Given the description of an element on the screen output the (x, y) to click on. 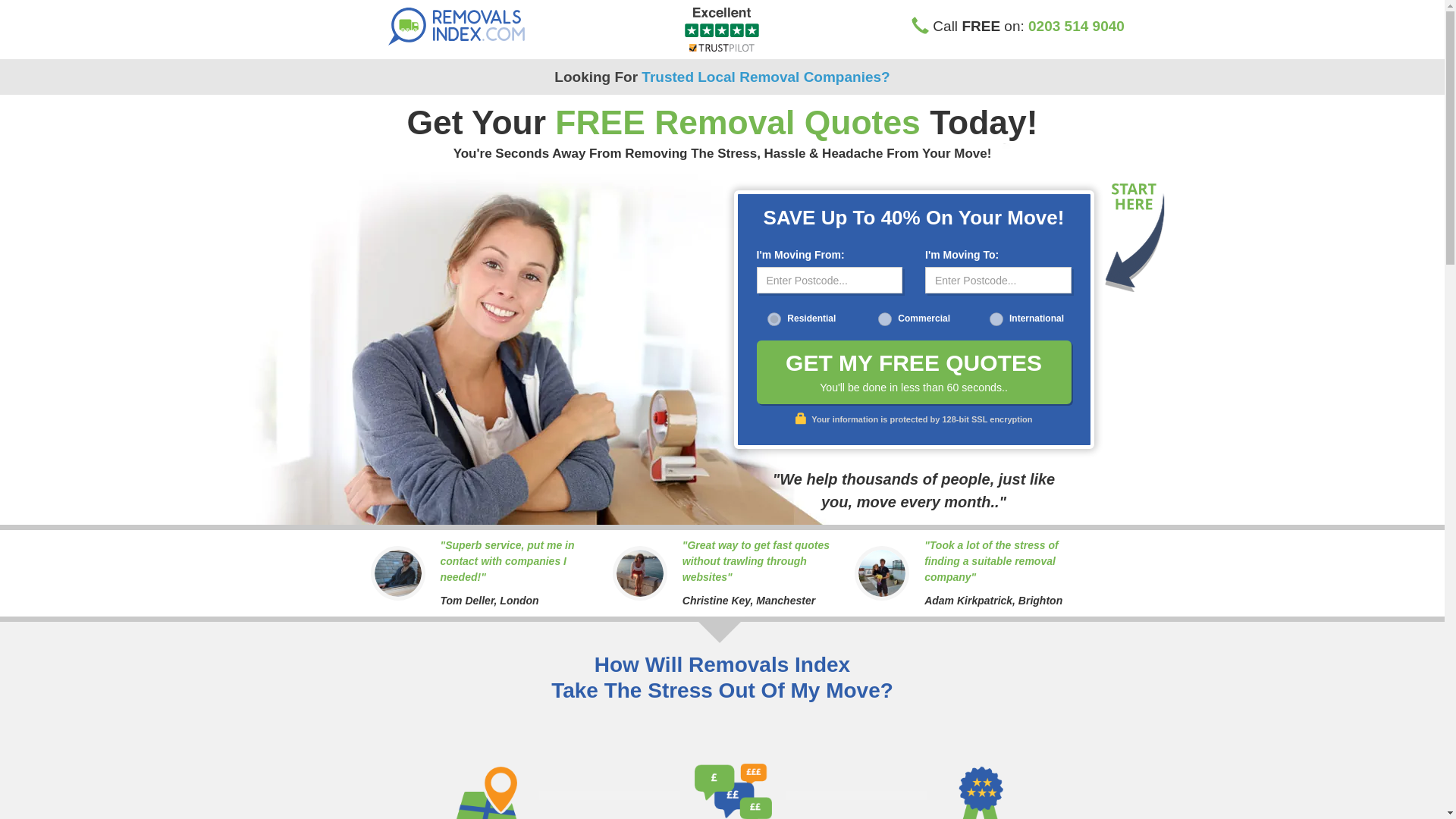
Residential (774, 318)
0203 514 9040 (1075, 26)
Removals Index (475, 26)
International (996, 318)
Business Removal (884, 318)
